Given the description of an element on the screen output the (x, y) to click on. 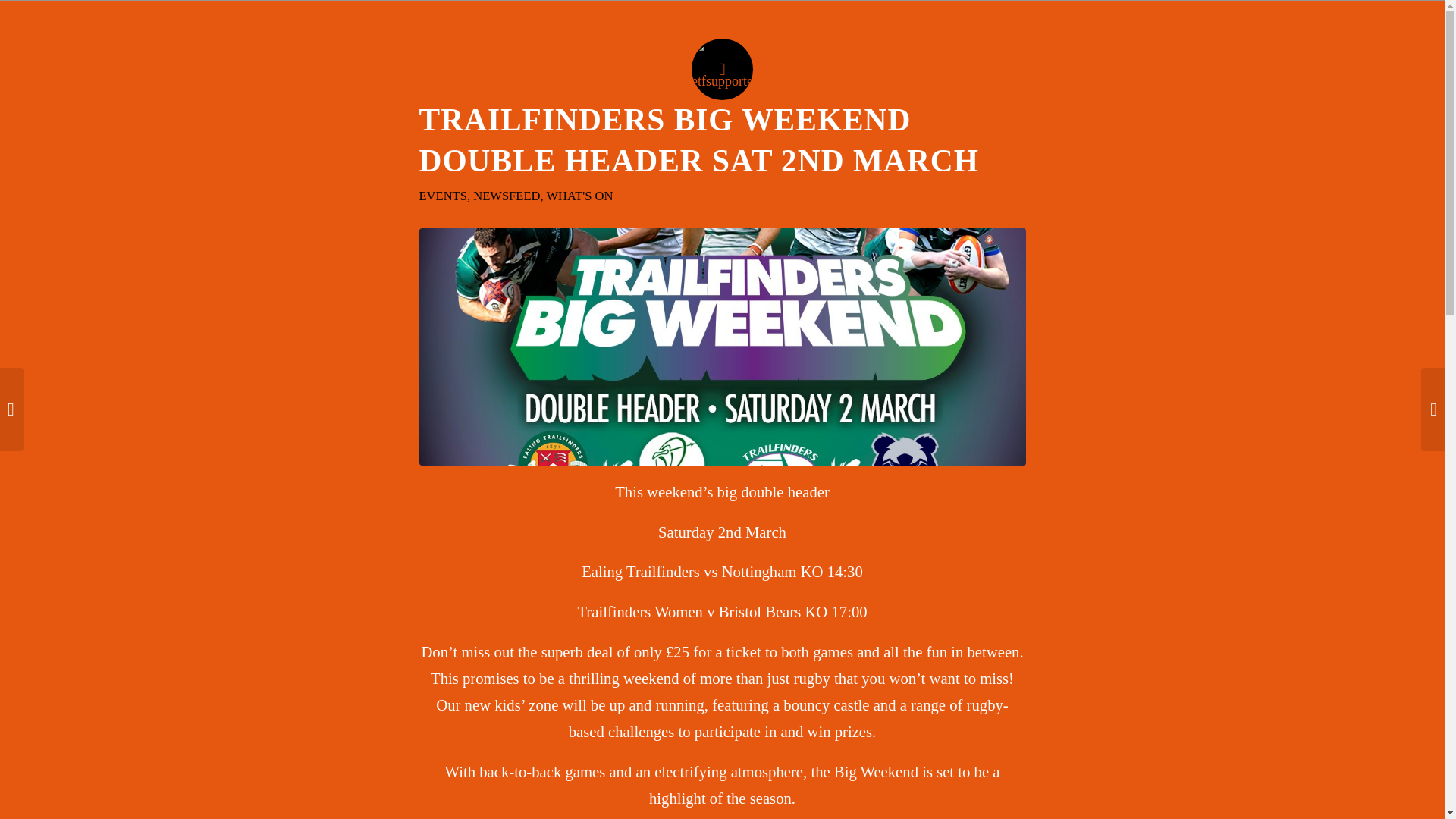
WHAT'S ON (579, 196)
NEWSFEED (506, 196)
EVENTS (442, 196)
